Given the description of an element on the screen output the (x, y) to click on. 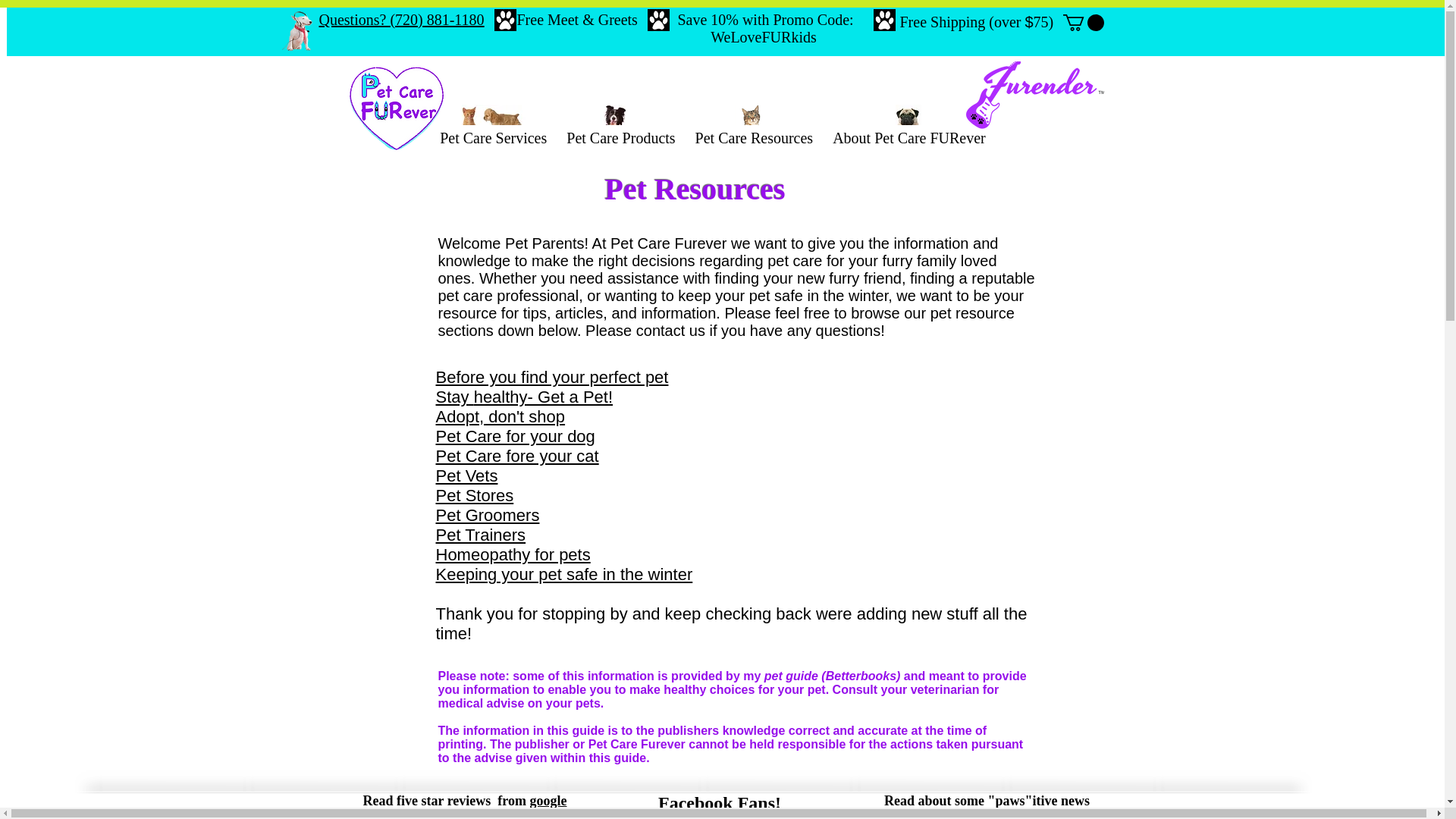
Pet Care Products (620, 138)
Highly recommended (505, 20)
About Pet Care FURever (908, 138)
Highly recommended (884, 20)
Pet Care Services (493, 138)
Services (907, 117)
Pet Care Resources (754, 138)
Highly recommended (658, 20)
